Given the description of an element on the screen output the (x, y) to click on. 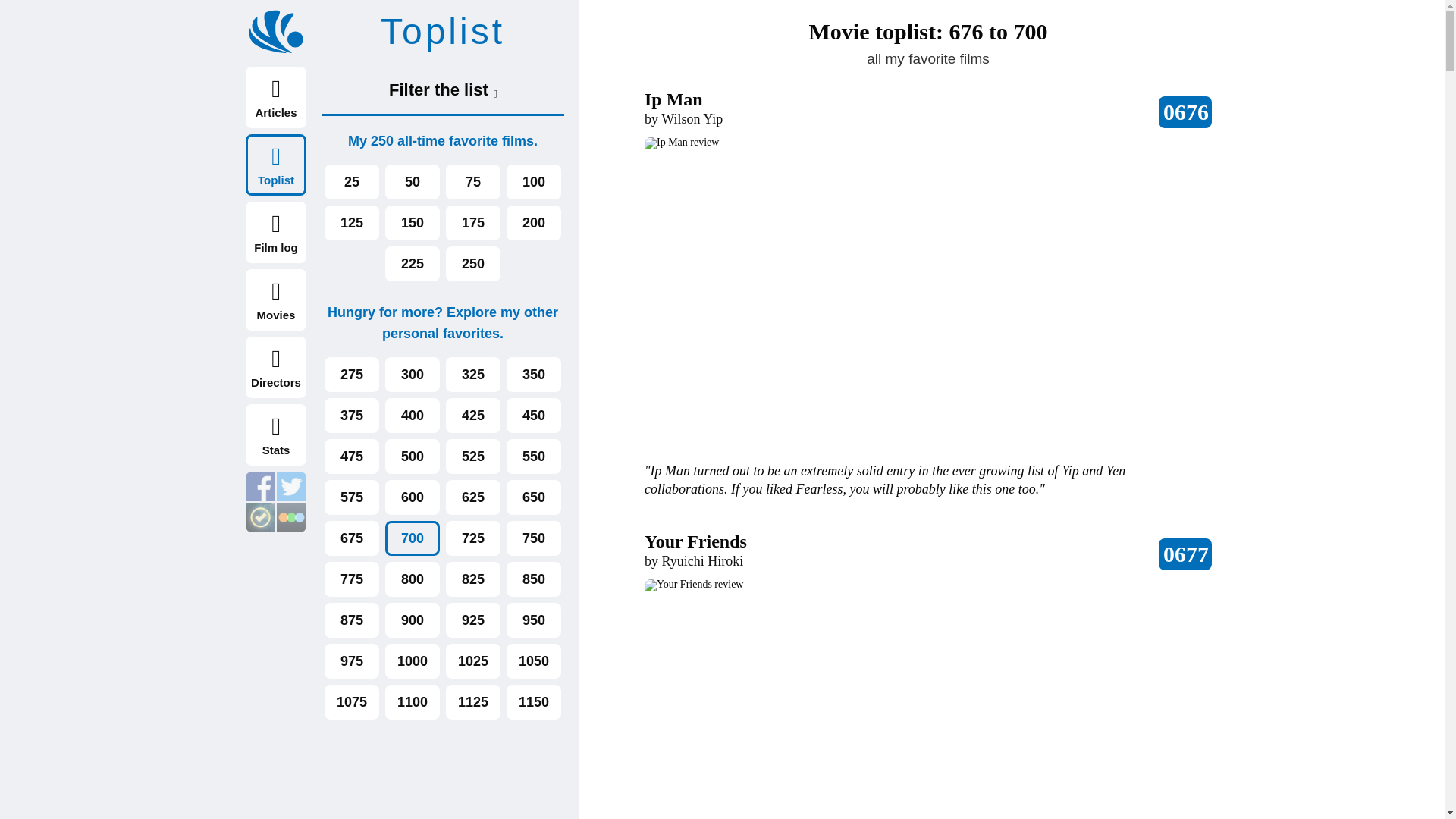
Movies (275, 299)
Articles (275, 96)
Toplist (275, 164)
Directors (275, 367)
onderhond.com (275, 31)
Film log (275, 231)
Stats (275, 435)
